Given the description of an element on the screen output the (x, y) to click on. 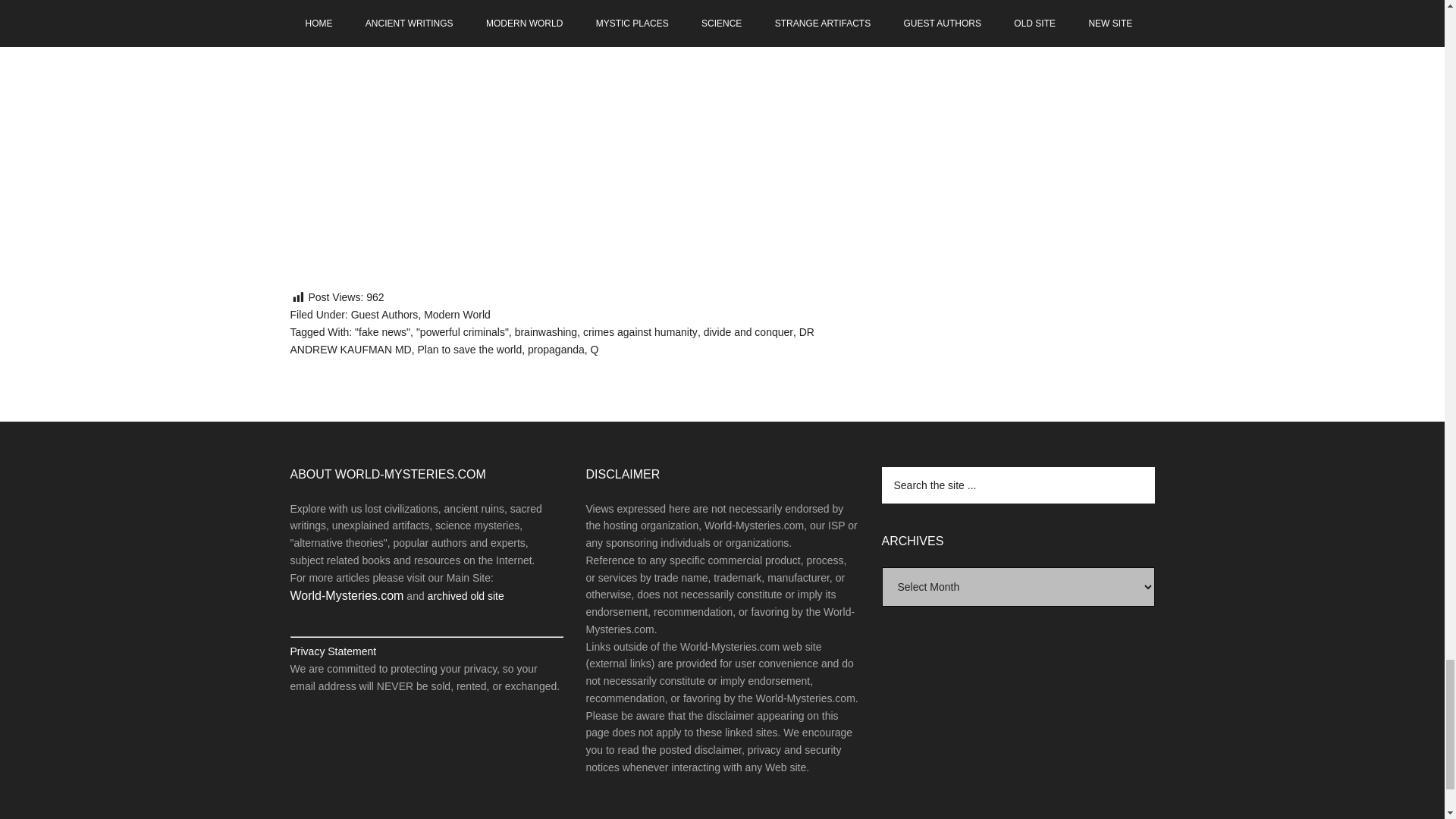
Plan to save the world (469, 349)
crimes against humanity (640, 331)
Guest Authors (384, 314)
"fake news" (382, 331)
brainwashing (546, 331)
"powerful criminals" (462, 331)
DR ANDREW KAUFMAN MD (551, 340)
divide and conquer (748, 331)
